Given the description of an element on the screen output the (x, y) to click on. 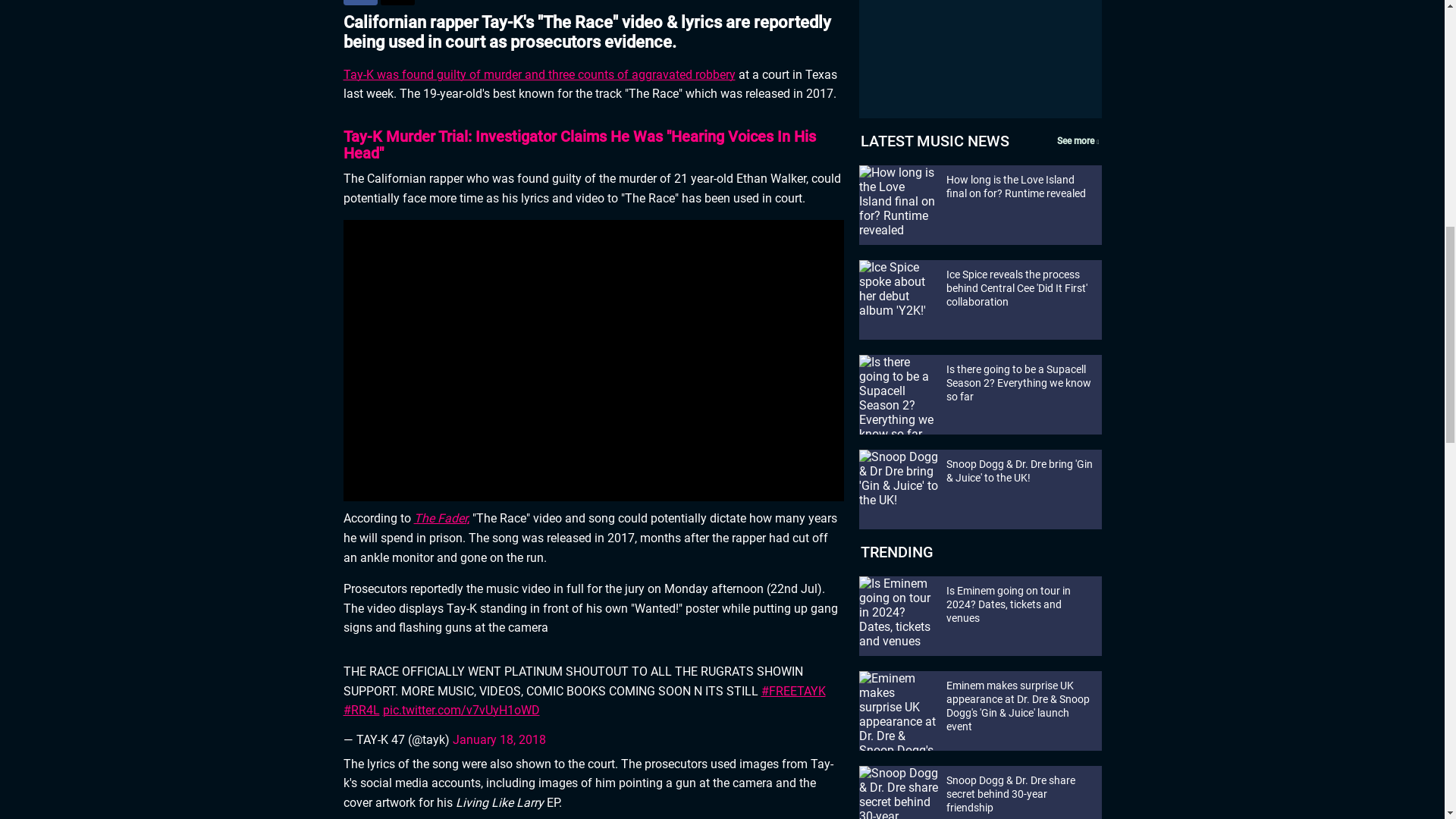
The Fader, (440, 518)
